Given the description of an element on the screen output the (x, y) to click on. 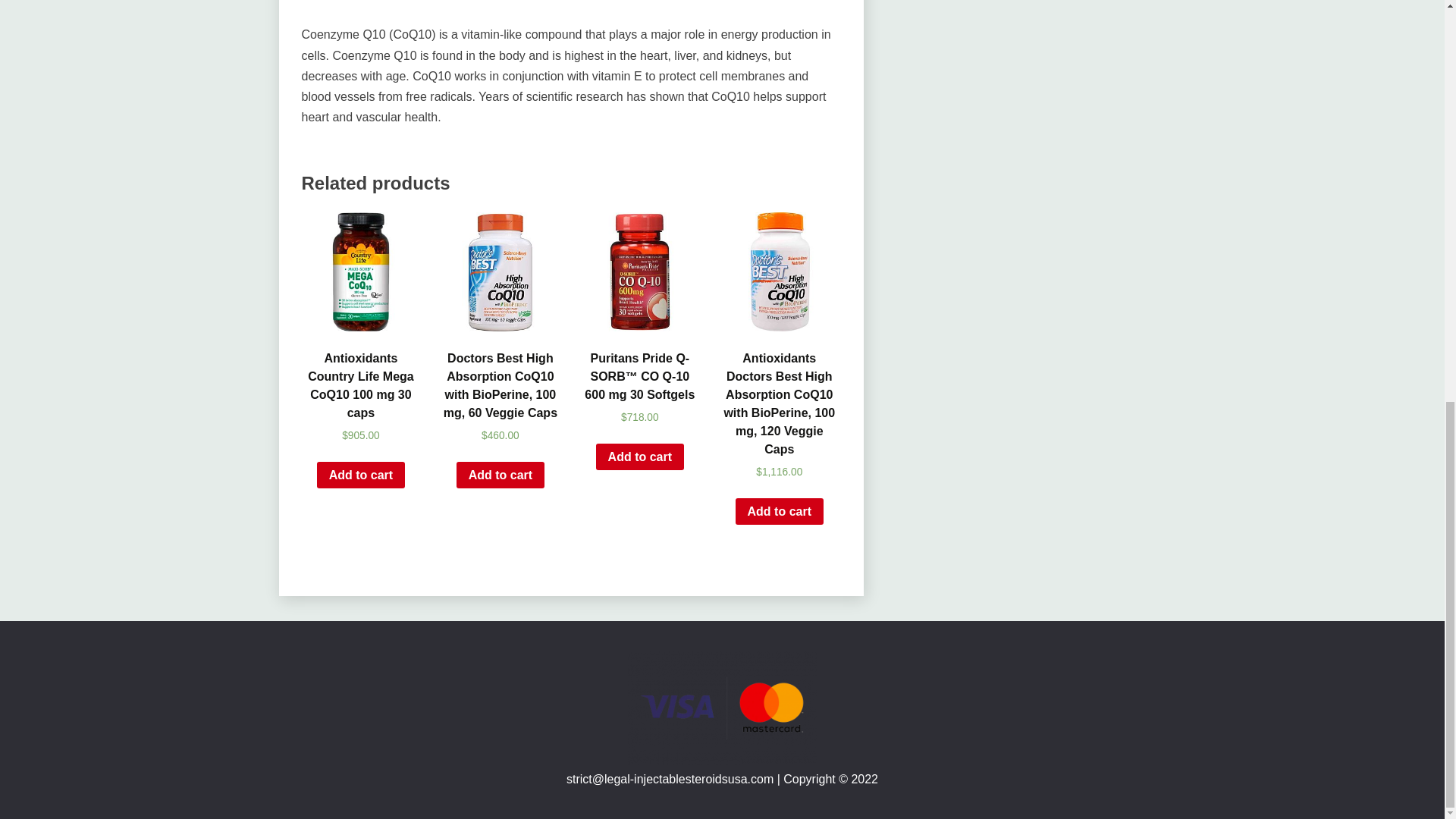
Add to cart (360, 474)
Add to cart (500, 474)
Add to cart (639, 456)
